Given the description of an element on the screen output the (x, y) to click on. 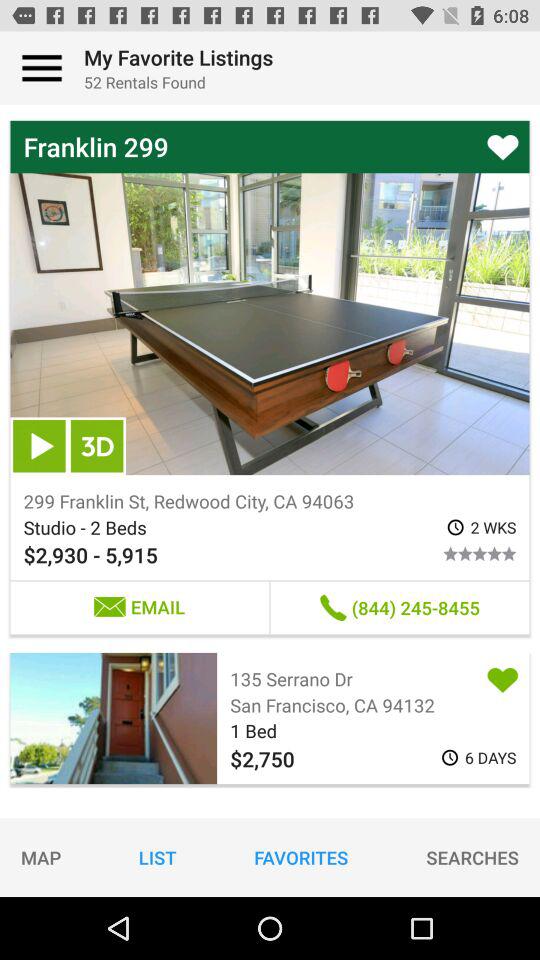
turn on icon to the left of the list item (41, 857)
